Given the description of an element on the screen output the (x, y) to click on. 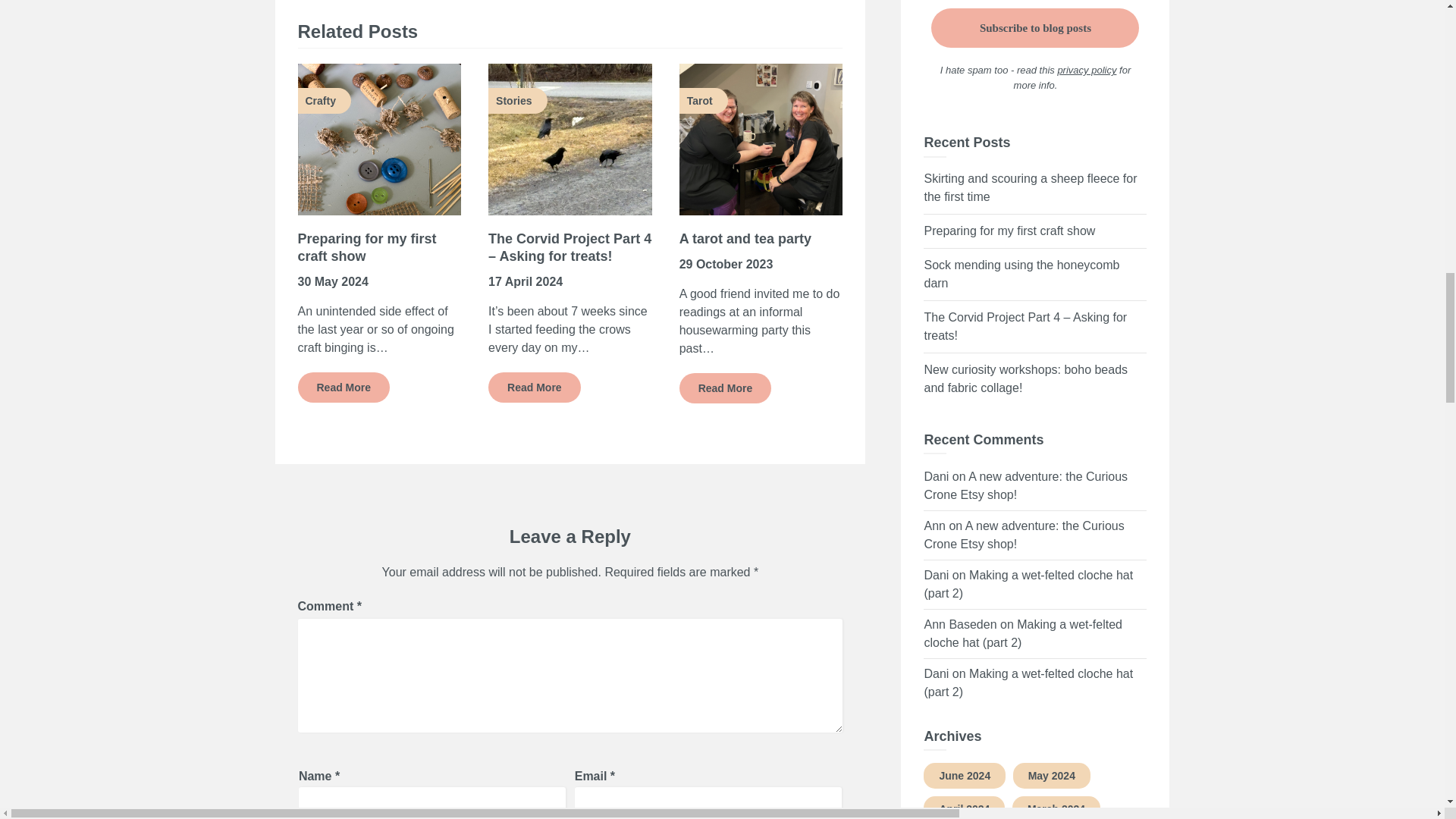
Stories (569, 139)
Skirting and scouring a sheep fleece for the first time (1030, 186)
Subscribe to blog posts (1034, 28)
Subscribe to blog posts (1034, 28)
Read More (725, 388)
Sock mending using the honeycomb darn (1021, 273)
A tarot and tea party (744, 237)
privacy policy (1086, 70)
Read More (343, 387)
Preparing for my first craft show (366, 246)
30 May 2024 (332, 281)
Read More (533, 387)
Tarot (761, 139)
17 April 2024 (524, 281)
Crafty (379, 139)
